Given the description of an element on the screen output the (x, y) to click on. 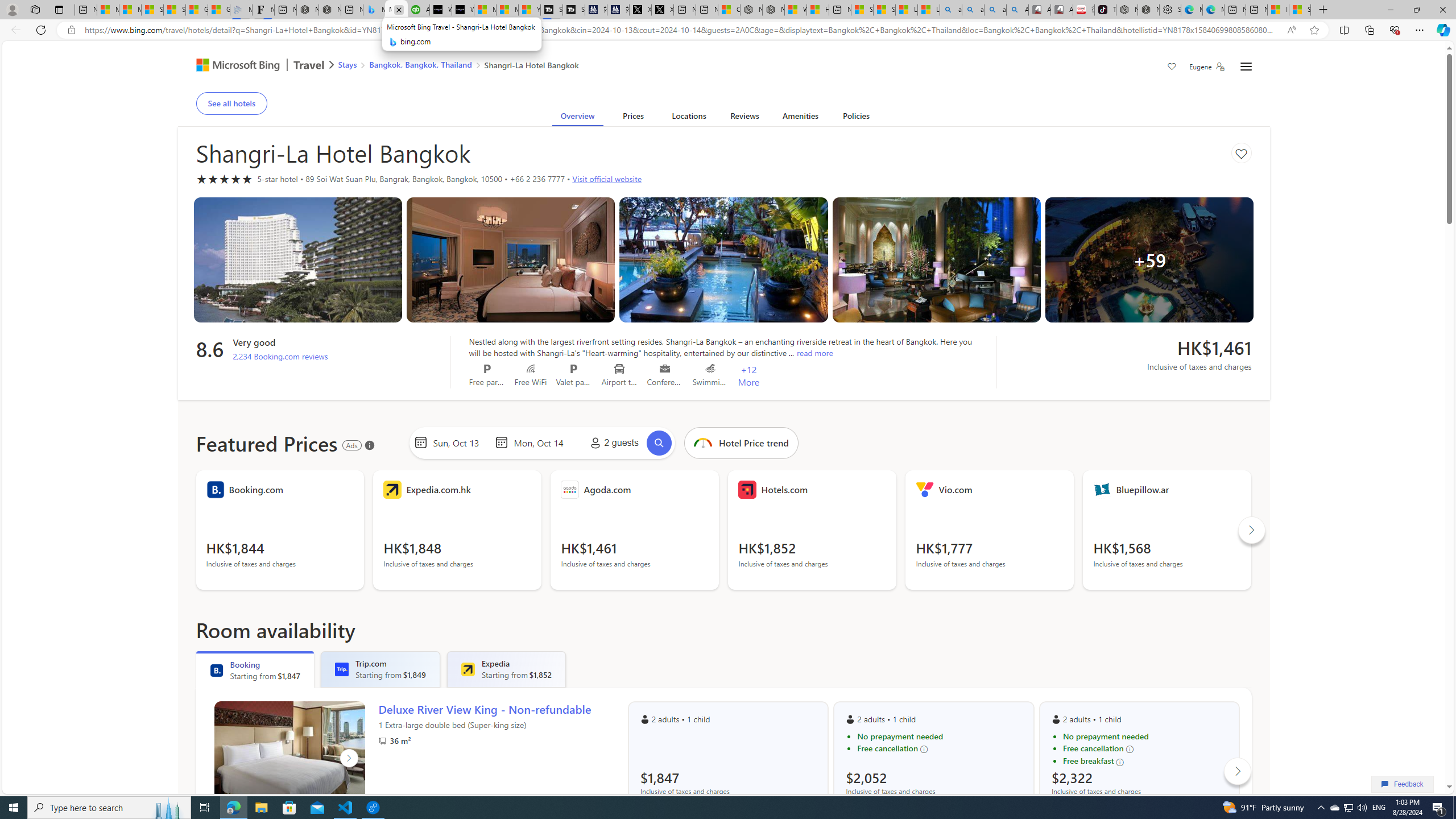
Expedia Expedia Starting from $1,852 (506, 669)
Vendor Logo (1102, 489)
Class: msft-bing-logo msft-bing-logo-desktop (234, 64)
Overview (576, 118)
amazon - Search Images (995, 9)
Streaming Coverage | T3 (551, 9)
2,234 Booking.com reviews (279, 355)
Nordace - #1 Japanese Best-Seller - Siena Smart Backpack (330, 9)
Microsoft Bing (232, 65)
5-star hotel  (224, 179)
